Given the description of an element on the screen output the (x, y) to click on. 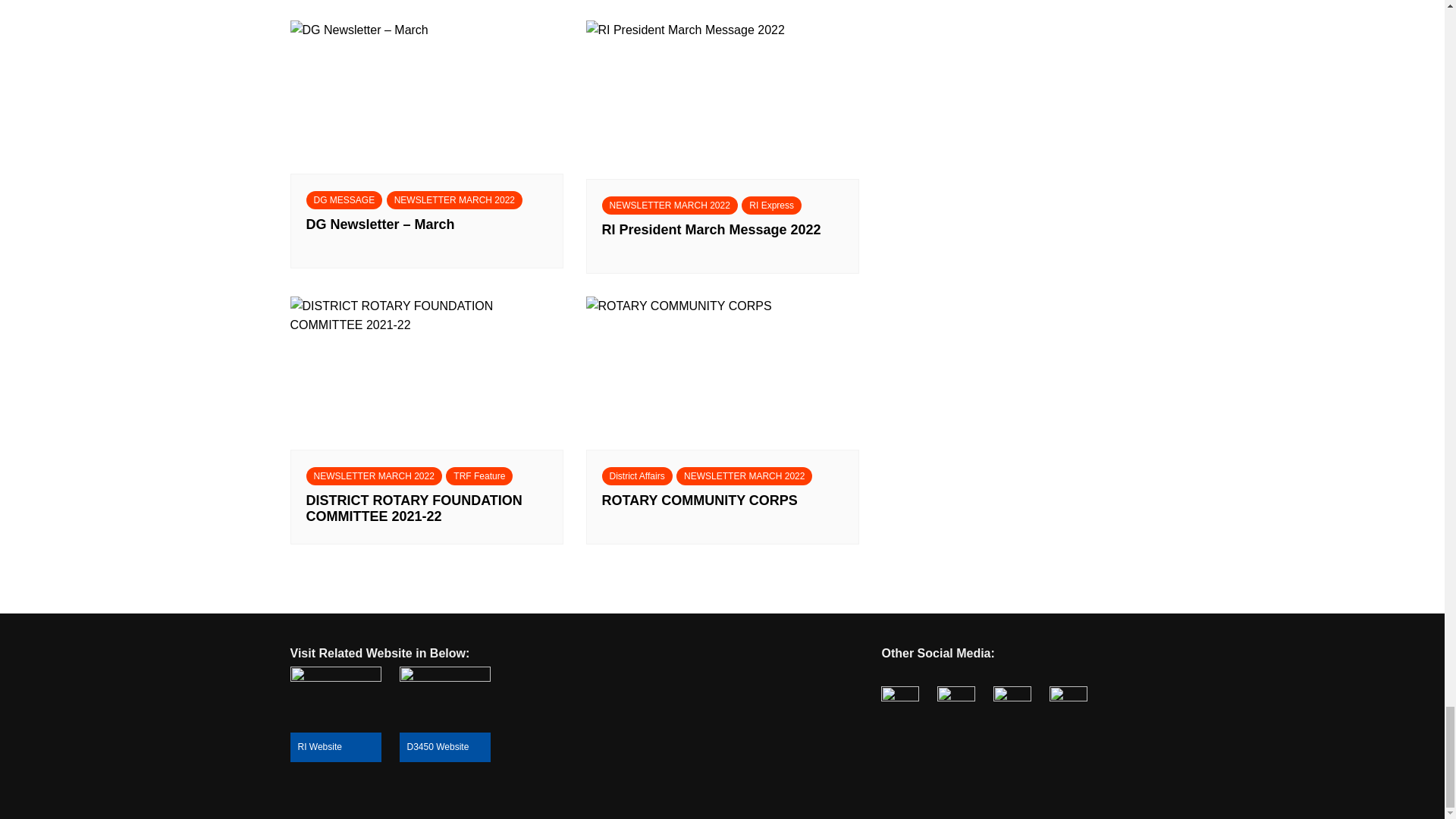
RI President March Message 2022 (722, 237)
District Affairs (637, 475)
NEWSLETTER MARCH 2022 (454, 199)
TRF Feature (478, 475)
DG MESSAGE (343, 199)
ROTARY COMMUNITY CORPS (722, 508)
NEWSLETTER MARCH 2022 (744, 475)
NEWSLETTER MARCH 2022 (670, 205)
DISTRICT ROTARY FOUNDATION COMMITTEE 2021-22 (426, 508)
RI Express (771, 205)
